Given the description of an element on the screen output the (x, y) to click on. 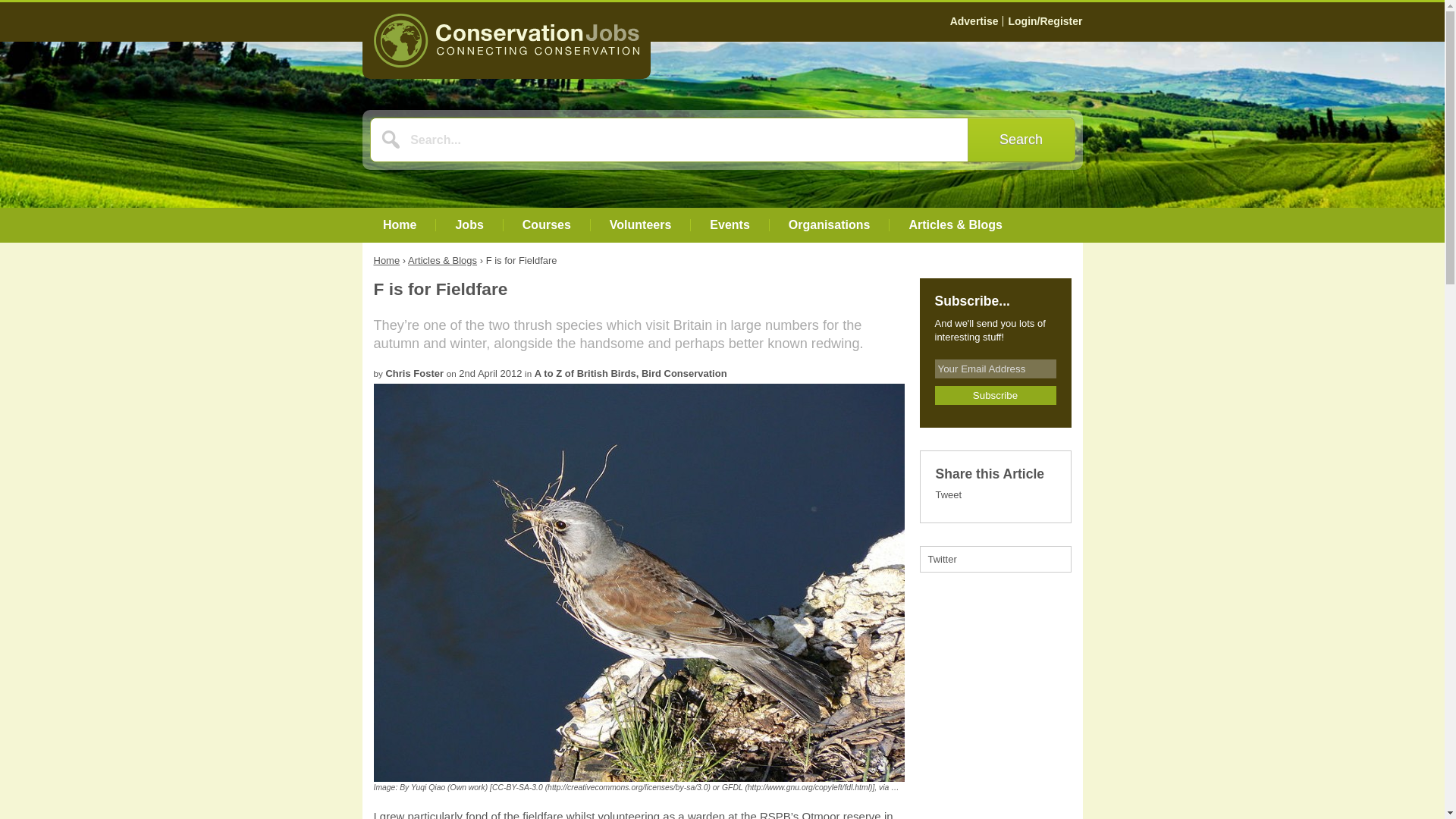
Search CJ (1021, 139)
Organisations (829, 224)
Subscribe (994, 394)
Search (1021, 139)
Advertise (974, 21)
Courses (546, 224)
Posts by Chris Foster (414, 373)
Volunteers (640, 224)
A to Z of British Birds (585, 373)
Subscribe (994, 394)
